Given the description of an element on the screen output the (x, y) to click on. 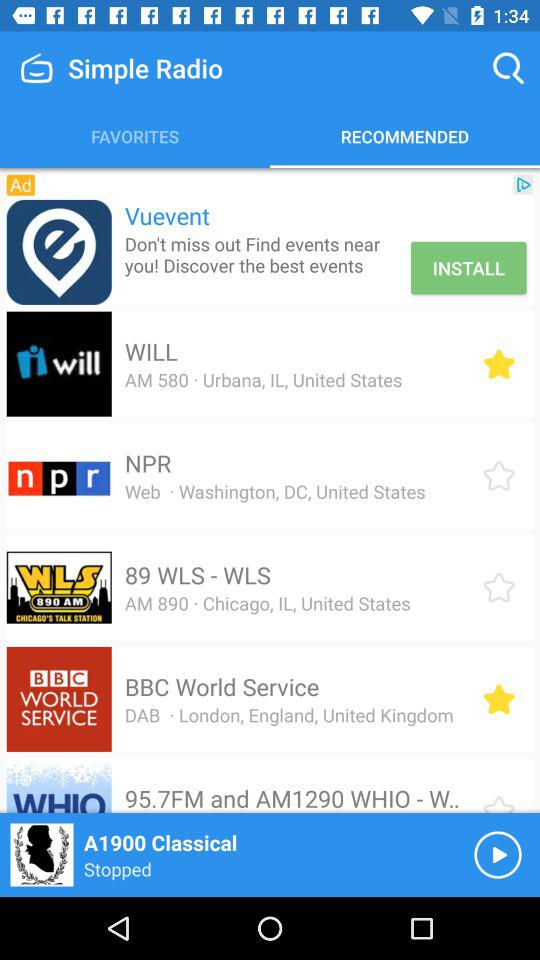
tap item above 89 wls - wls item (274, 491)
